Given the description of an element on the screen output the (x, y) to click on. 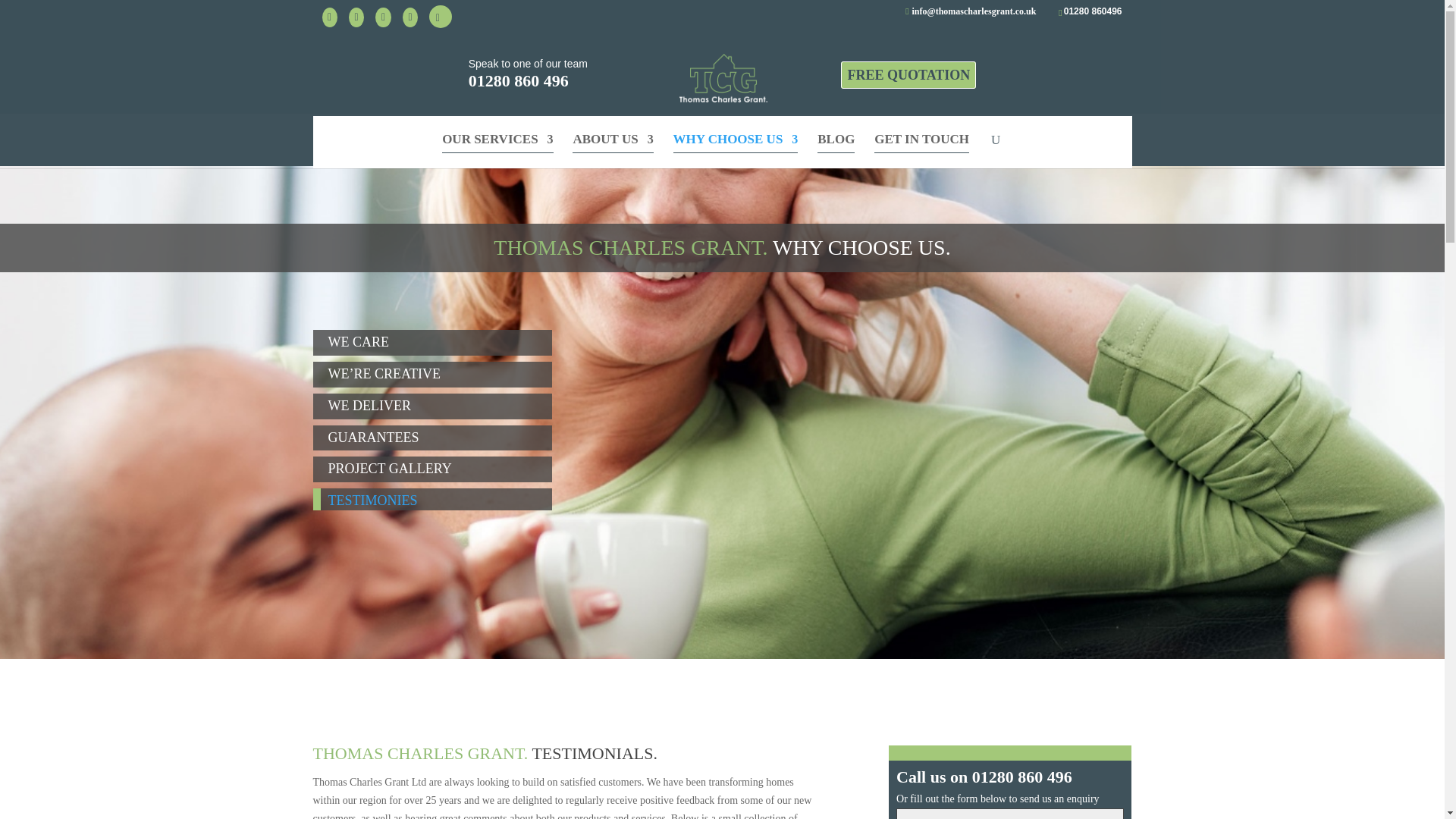
WHY CHOOSE US (734, 143)
BLOG (835, 143)
ABOUT US (612, 143)
01280 860 496 (518, 80)
OUR SERVICES (497, 143)
GET IN TOUCH (922, 143)
FREE QUOTATION (908, 74)
